Given the description of an element on the screen output the (x, y) to click on. 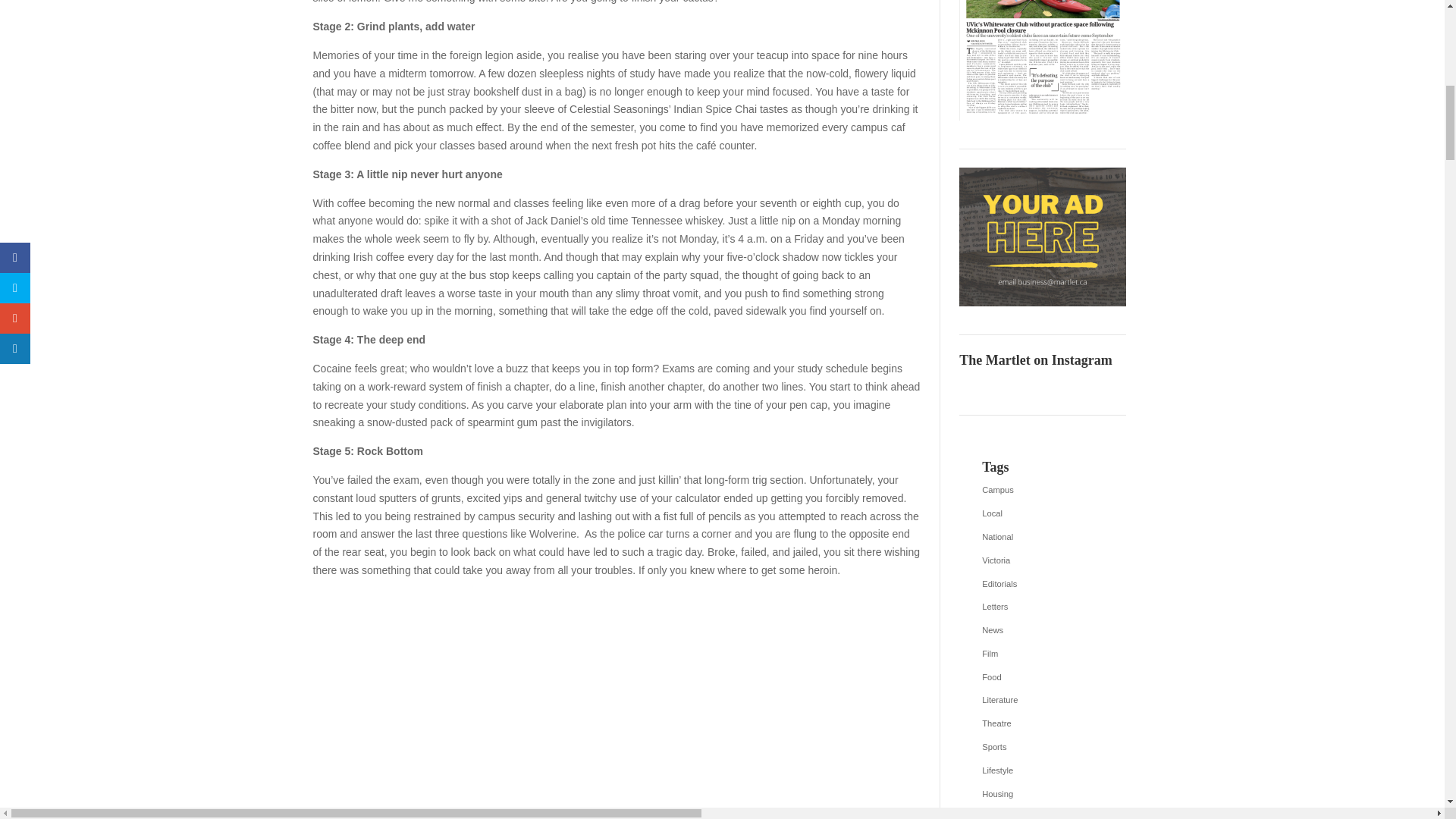
Film (1042, 654)
Victoria (1042, 561)
Campus (1042, 490)
Local (1042, 514)
Lifestyle (1042, 771)
Housing (1042, 794)
News (1042, 630)
Theatre (1042, 723)
Editorials (1042, 583)
National (1042, 537)
